Given the description of an element on the screen output the (x, y) to click on. 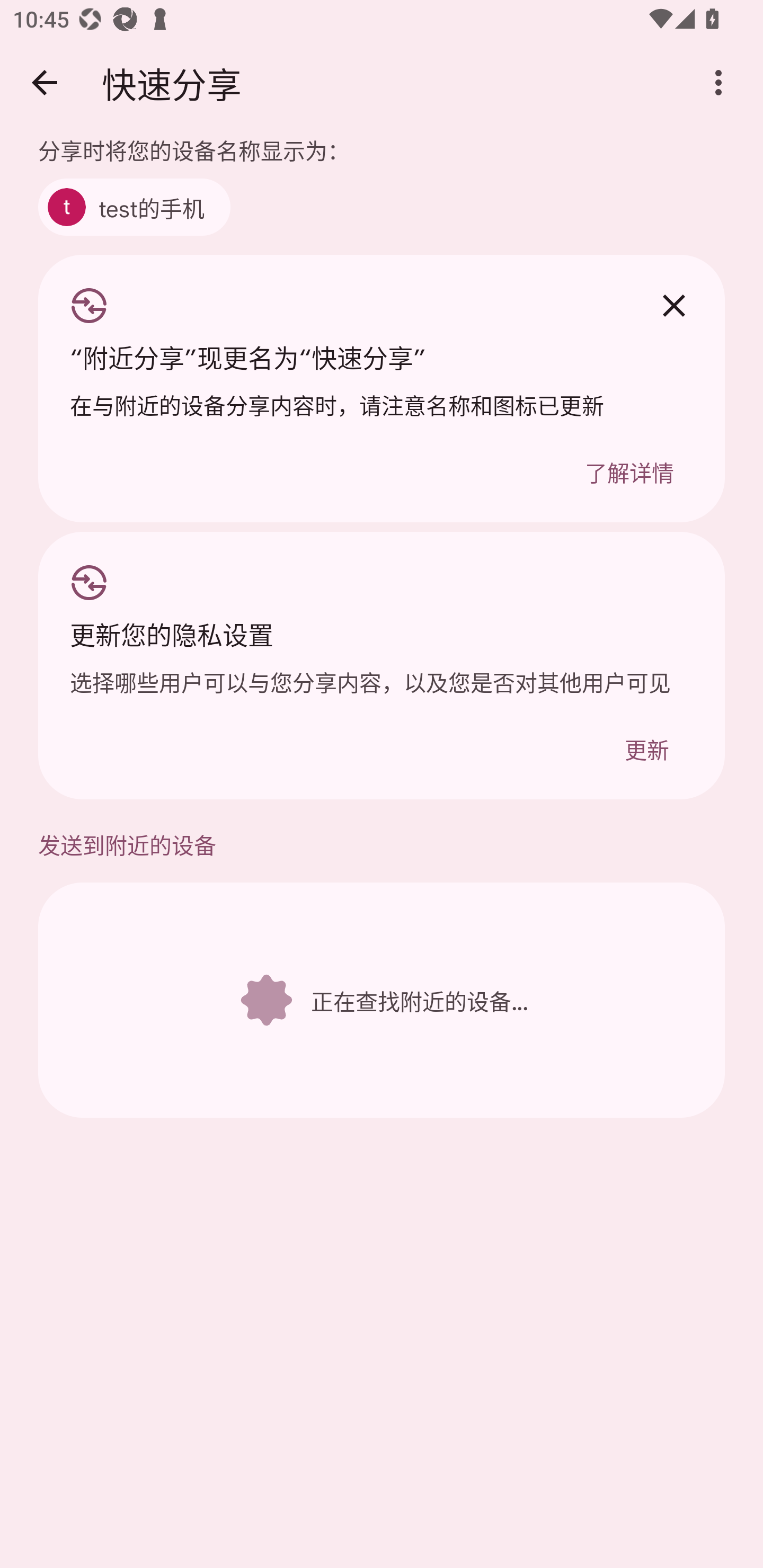
返回 (44, 81)
更多 (718, 81)
test的手机 (134, 206)
关闭 (673, 305)
了解详情 (629, 470)
更新 (646, 748)
